Given the description of an element on the screen output the (x, y) to click on. 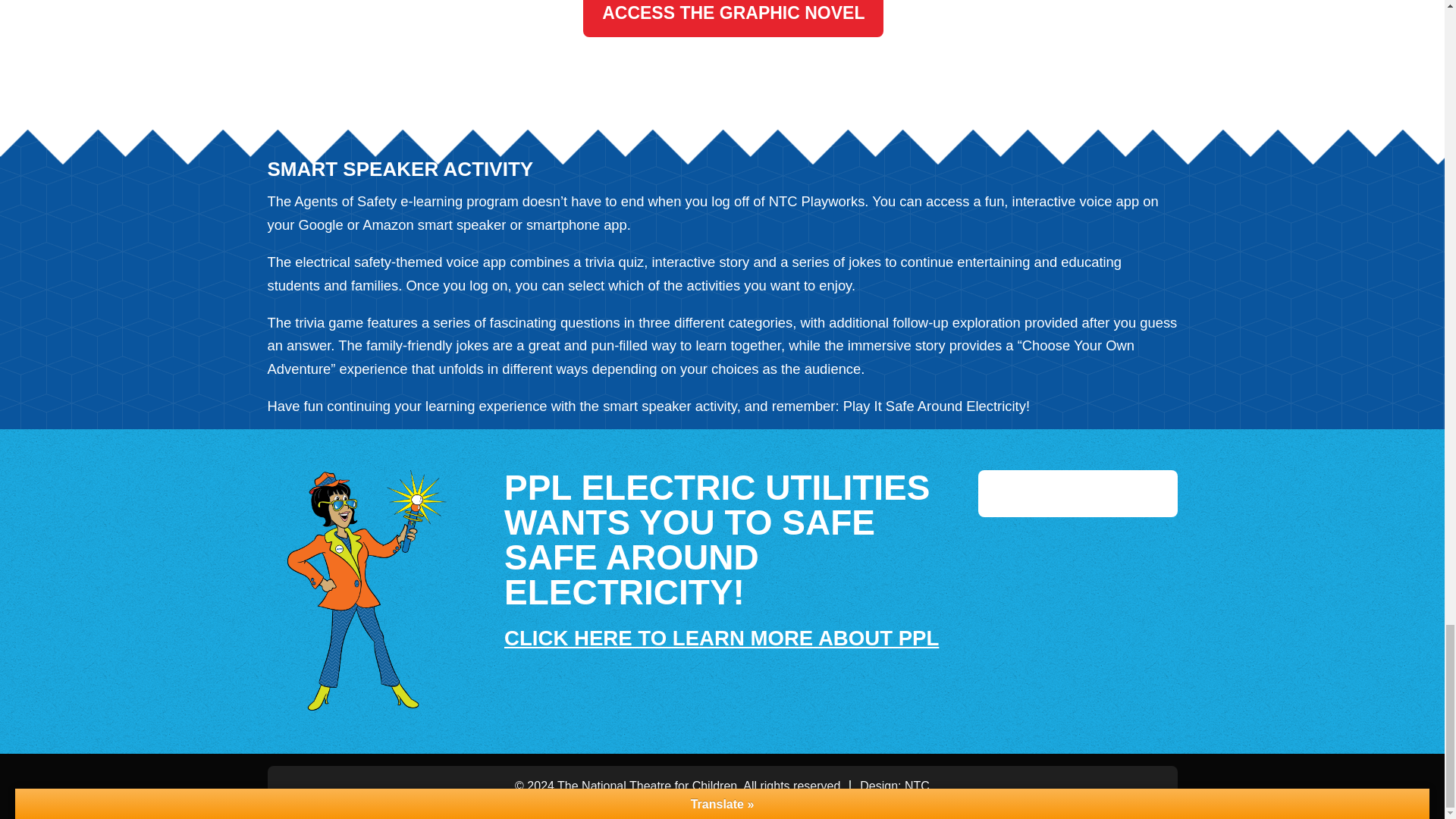
CLICK HERE TO LEARN MORE ABOUT PPL (721, 638)
ACCESS THE GRAPHIC NOVEL (733, 18)
NTC (917, 785)
The National Theatre for Children (646, 785)
